Given the description of an element on the screen output the (x, y) to click on. 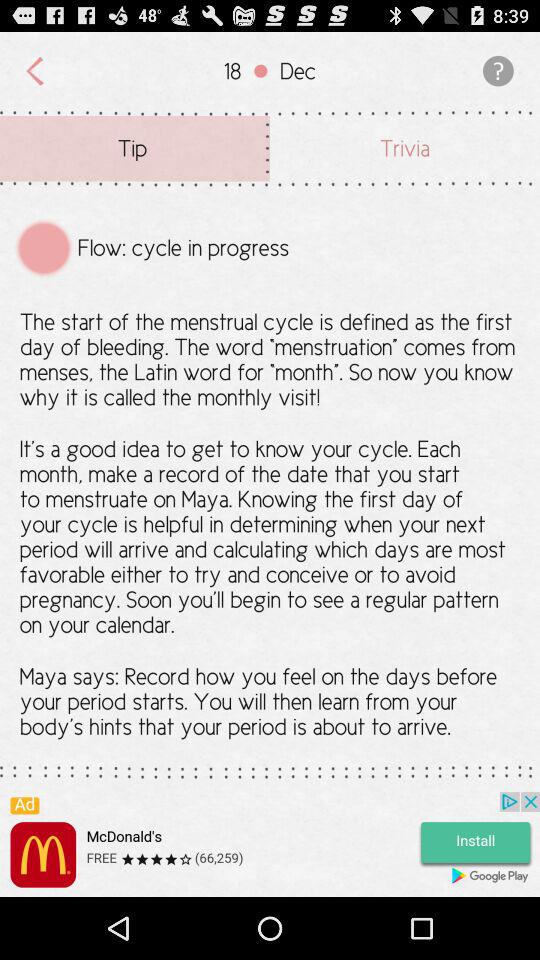
select the icon which is to the right side of the dec (494, 71)
